Given the description of an element on the screen output the (x, y) to click on. 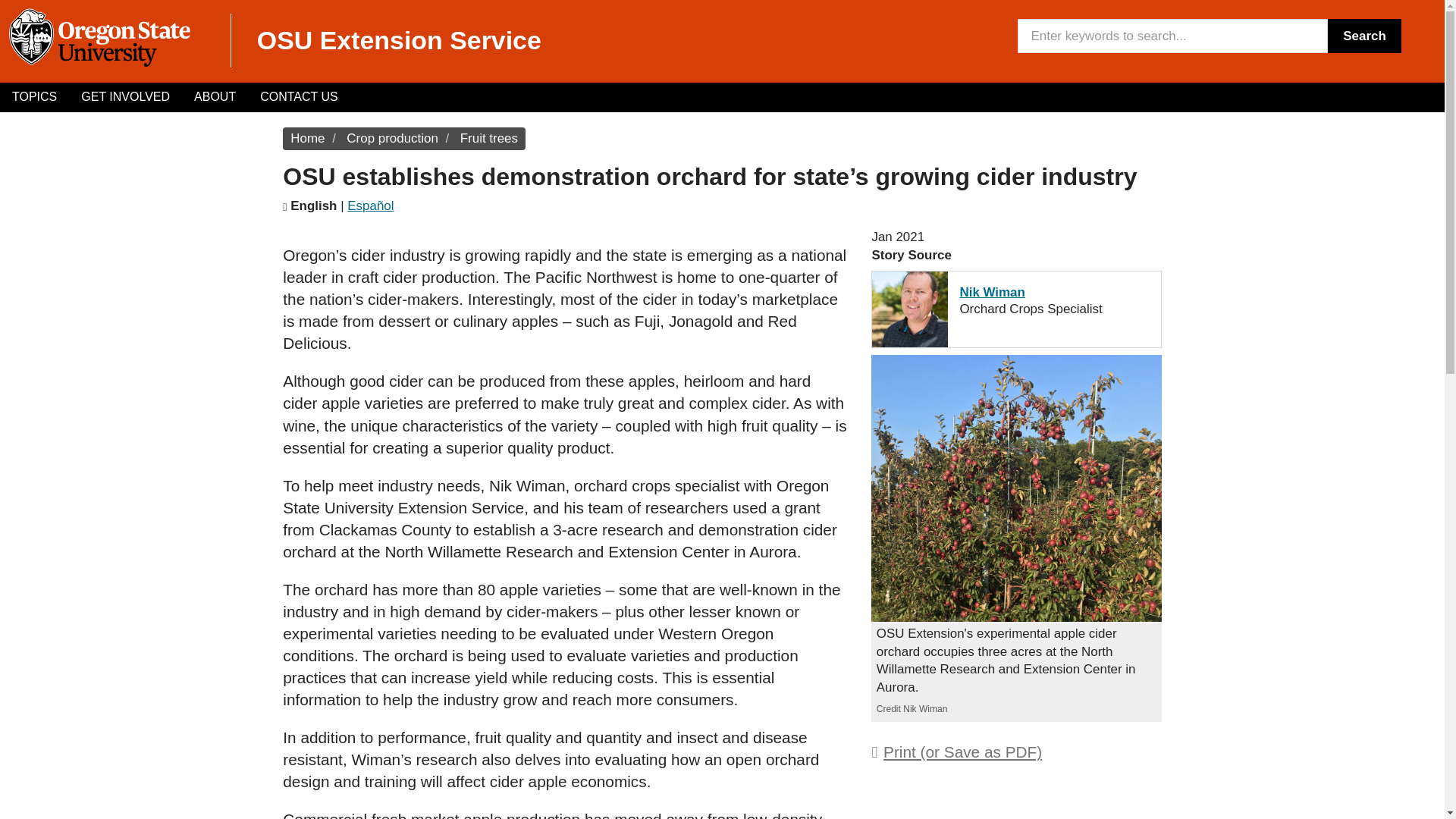
Enter keywords to search (1172, 35)
TOPICS (34, 96)
Search (1363, 35)
OSU Extension Service (399, 39)
